Given the description of an element on the screen output the (x, y) to click on. 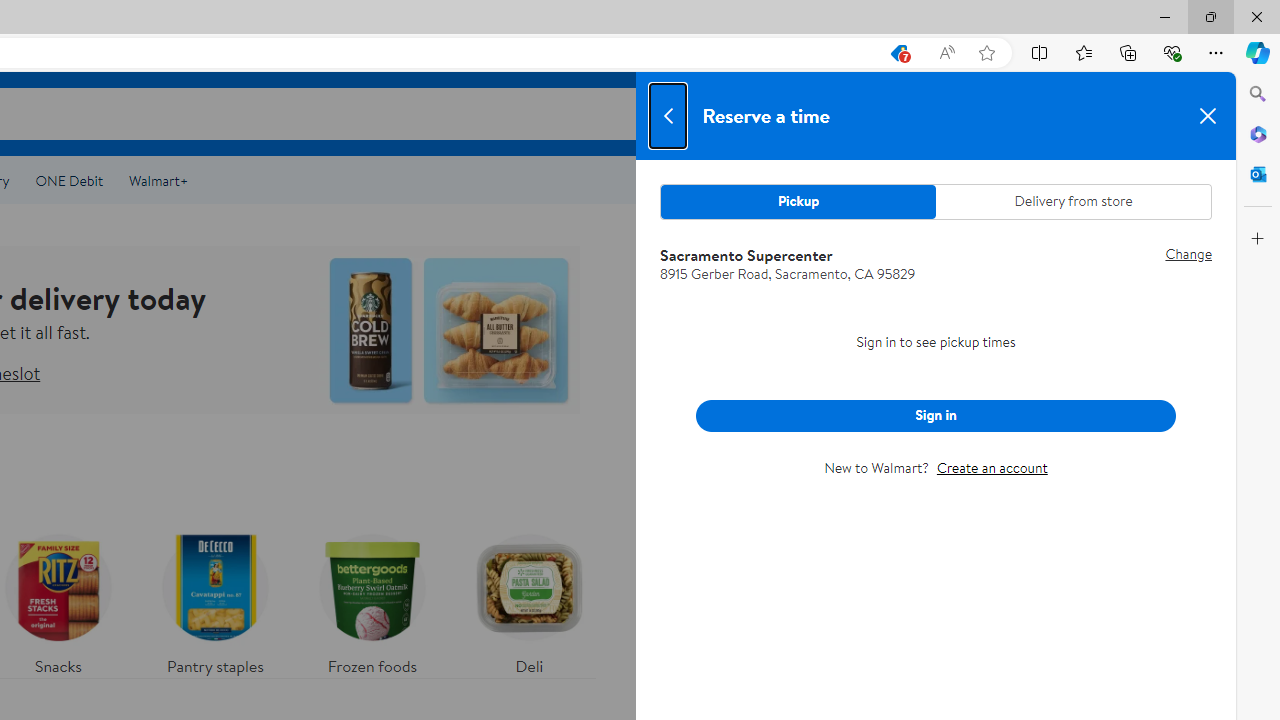
Pantry staples (214, 599)
Pantry staples (214, 599)
Sign InAccount (1088, 113)
Sign in (936, 415)
ONE Debit (68, 180)
ReorderMy Items (967, 113)
Frozen foods (371, 599)
Create an account (991, 467)
Frozen foods (371, 599)
